Given the description of an element on the screen output the (x, y) to click on. 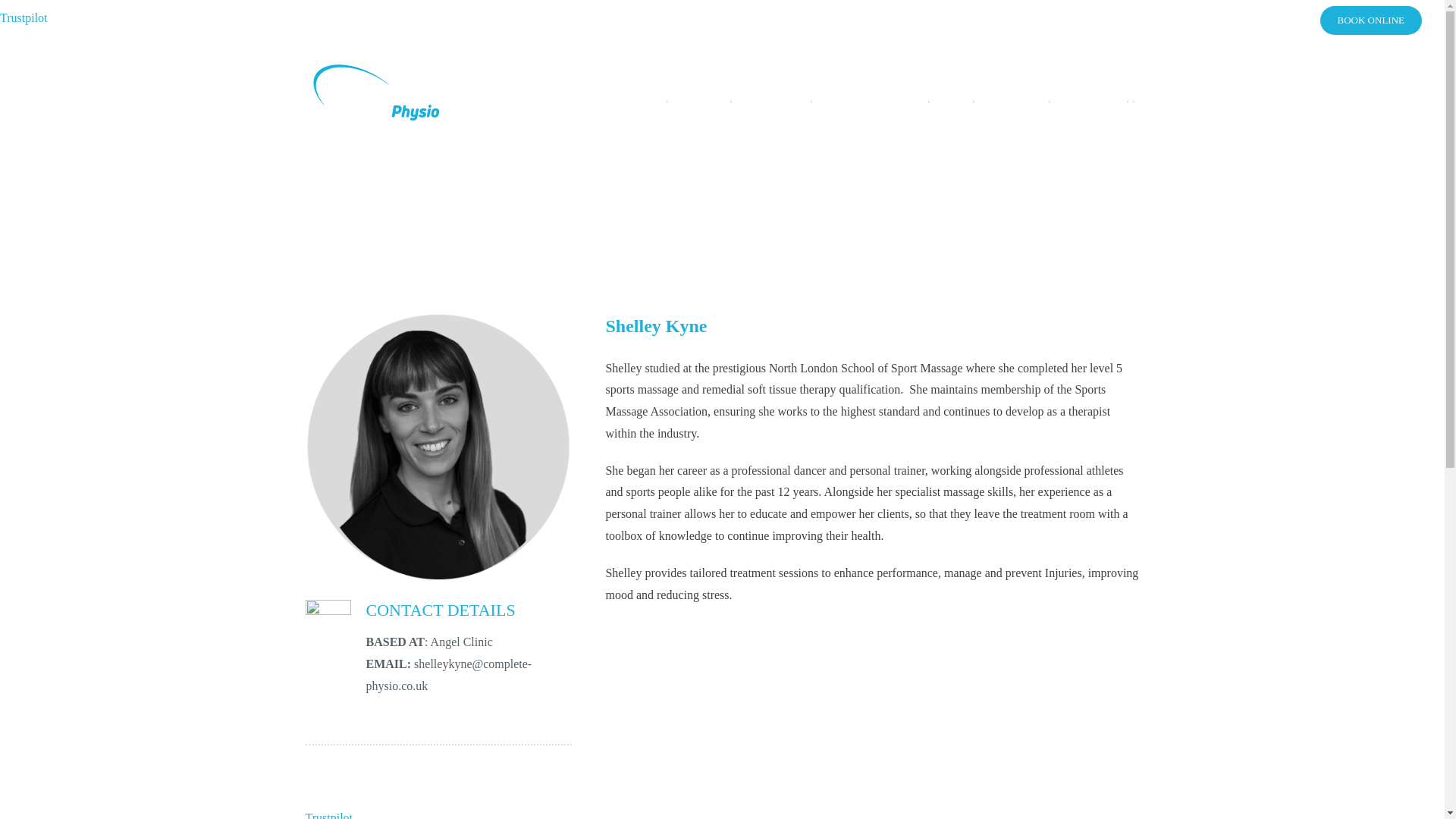
BOOK ONLINE (1371, 20)
Shelley-Kyne (438, 446)
GUIDED INJECTIONS (868, 101)
Trustpilot (24, 17)
